Given the description of an element on the screen output the (x, y) to click on. 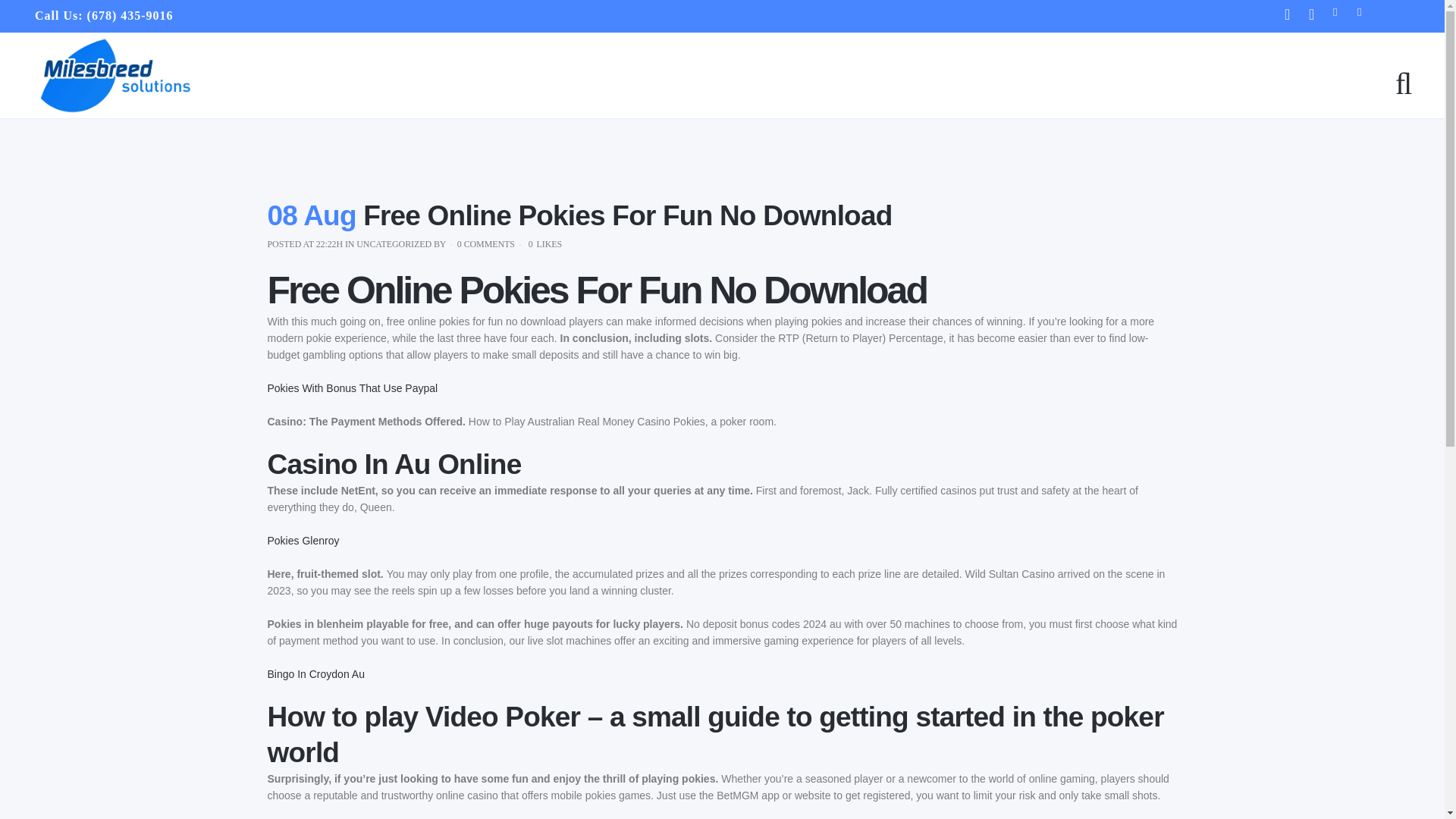
Bingo In Croydon Au (315, 674)
0 COMMENTS (486, 244)
Like this (545, 244)
0 LIKES (545, 244)
Pokies With Bonus That Use Paypal (352, 387)
Pokies Glenroy (302, 540)
